Given the description of an element on the screen output the (x, y) to click on. 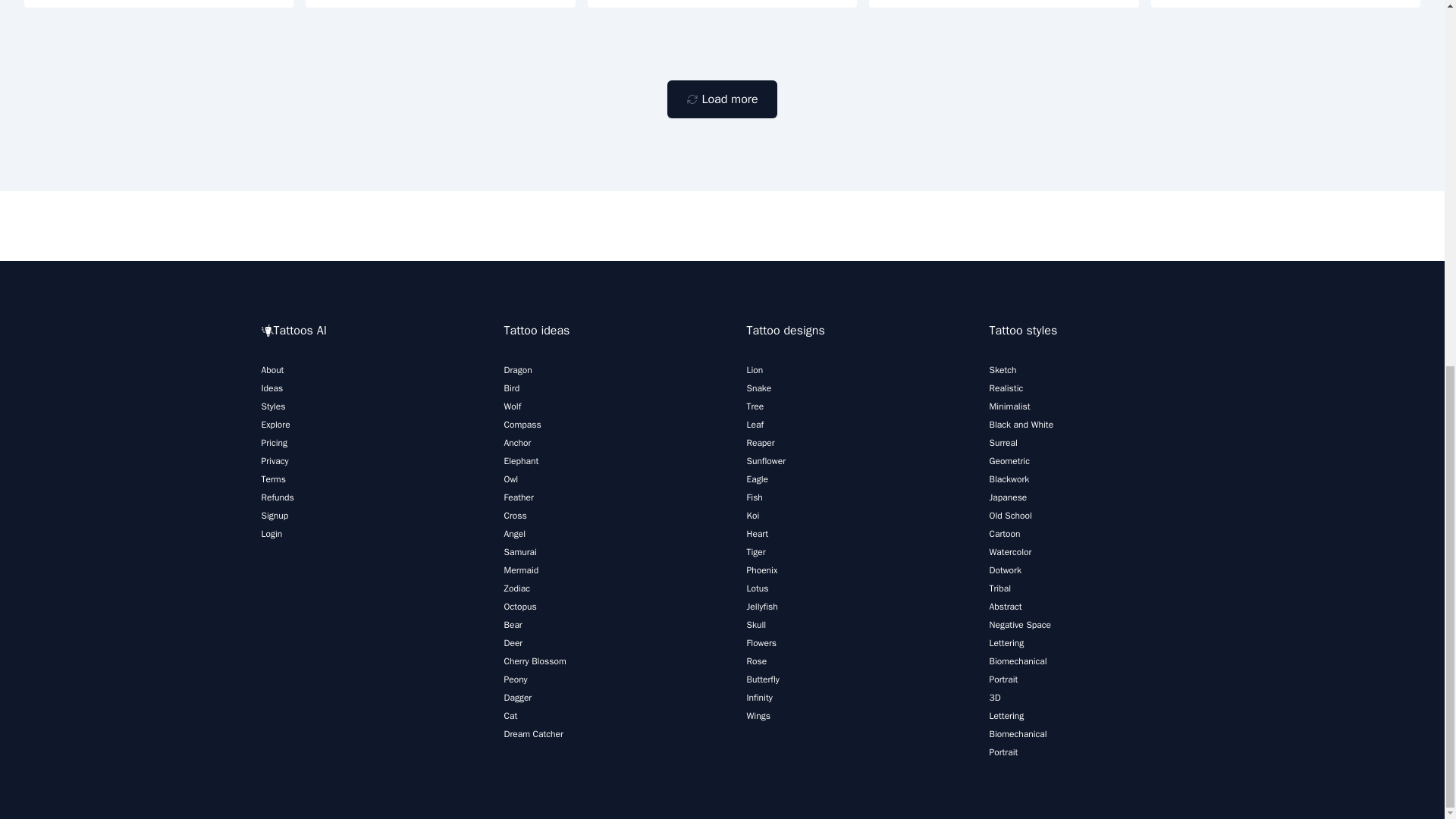
Compass (521, 424)
Explore (274, 424)
Styles (272, 406)
Privacy (274, 460)
About (271, 369)
Dragon (517, 369)
Beer bro cactus (1286, 3)
Anchor (517, 442)
Cross (514, 515)
Pricing (273, 442)
Elephant (520, 460)
beer (722, 3)
Owl (510, 479)
Terms (272, 479)
Load more (721, 98)
